Given the description of an element on the screen output the (x, y) to click on. 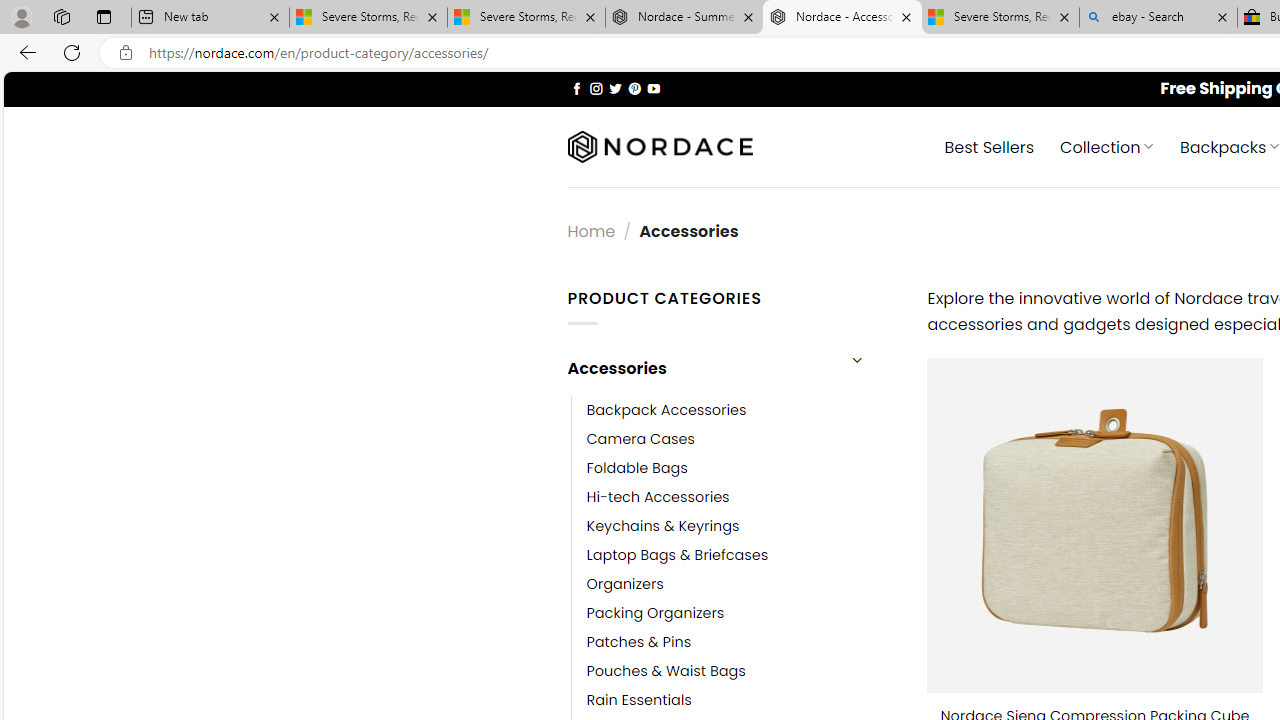
Organizers (625, 584)
Backpack Accessories (666, 409)
Pouches & Waist Bags (742, 671)
ebay - Search (1158, 17)
Follow on YouTube (653, 88)
 Best Sellers (989, 146)
Laptop Bags & Briefcases (742, 555)
